Given the description of an element on the screen output the (x, y) to click on. 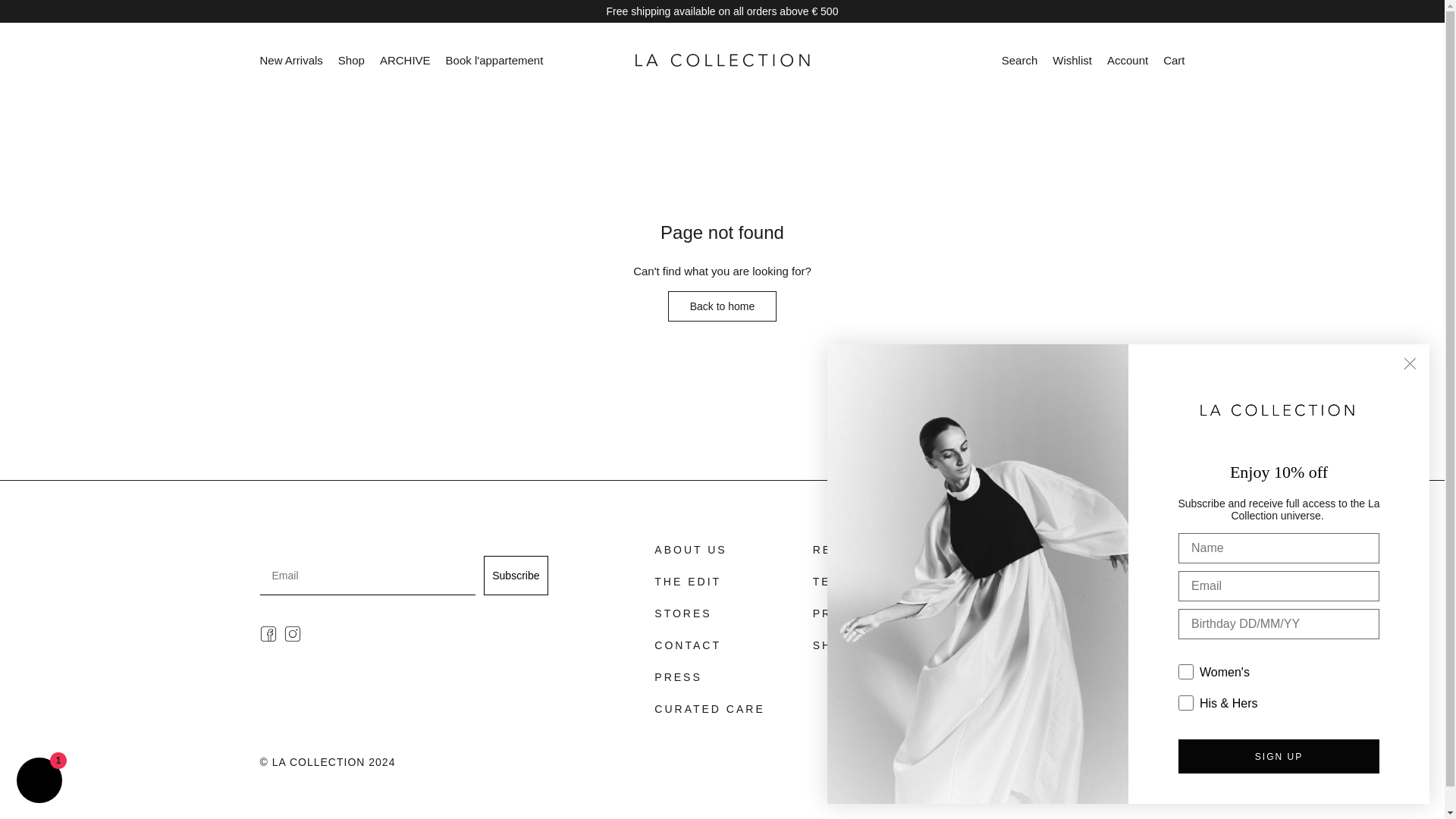
Shop (351, 60)
New Arrivals (290, 60)
on (1182, 659)
Shopify online store chat (38, 781)
on (1182, 690)
Close dialog 3 (1409, 363)
